Given the description of an element on the screen output the (x, y) to click on. 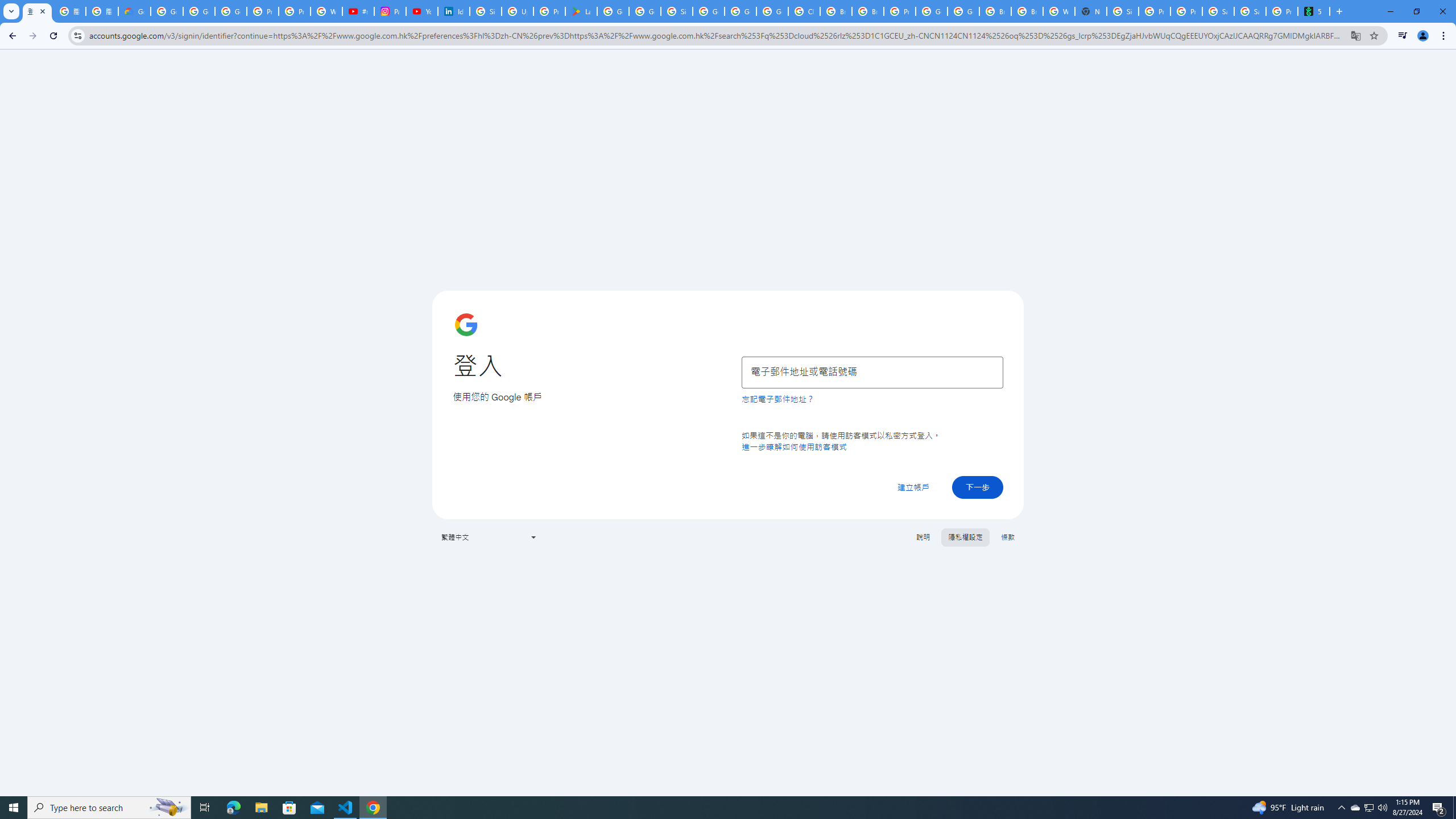
Sign in - Google Accounts (485, 11)
Browse Chrome as a guest - Computer - Google Chrome Help (995, 11)
Sign in - Google Accounts (676, 11)
